Given the description of an element on the screen output the (x, y) to click on. 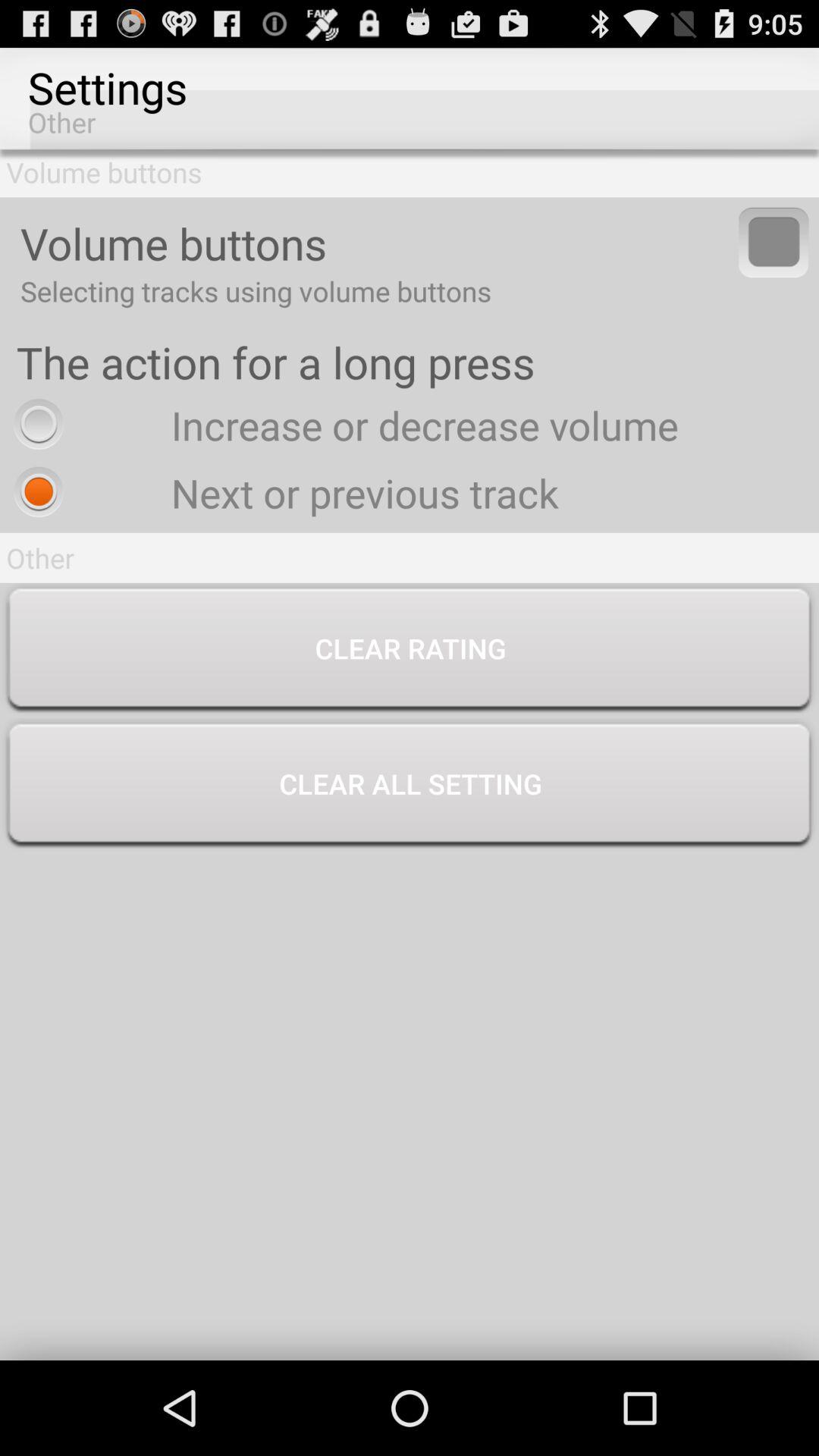
select next or previous radio button (282, 492)
